Given the description of an element on the screen output the (x, y) to click on. 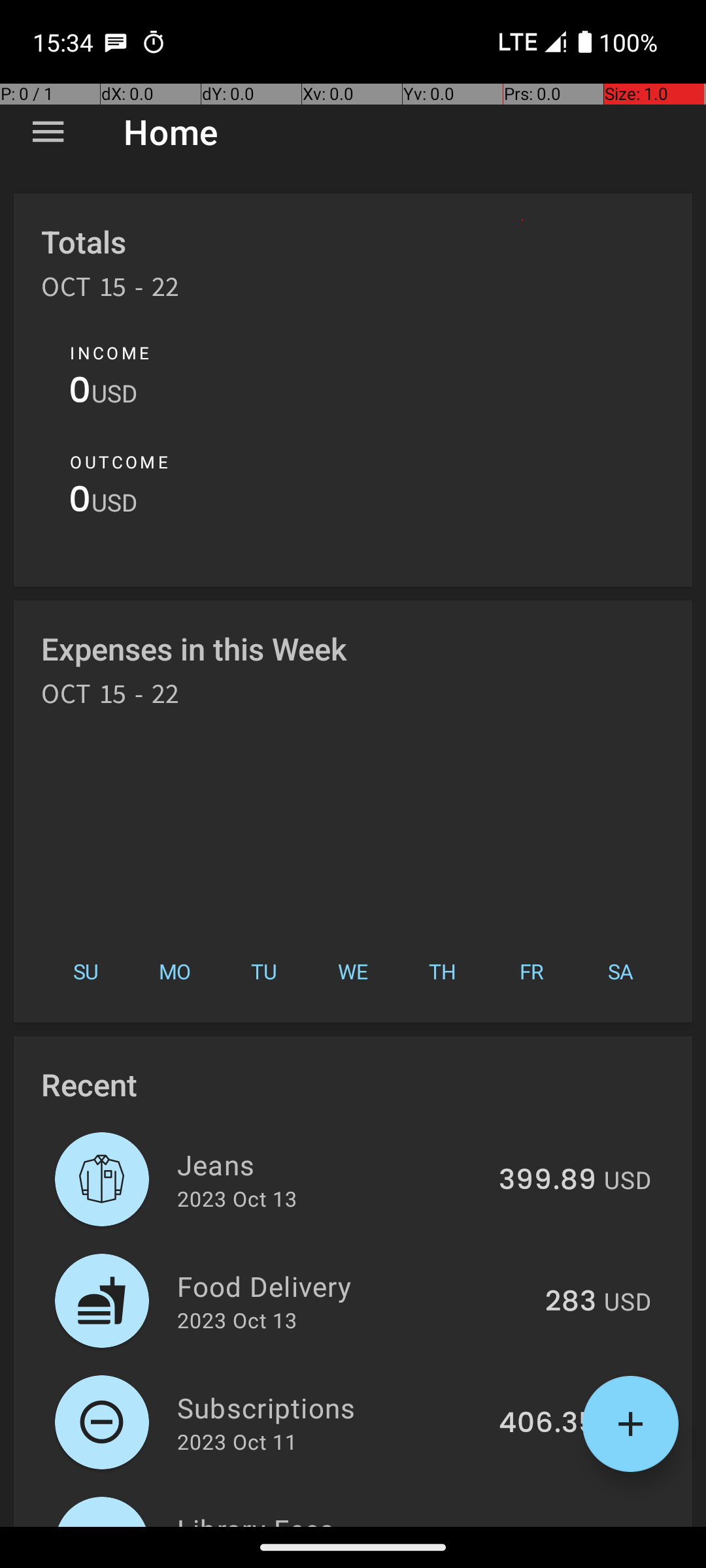
Jeans Element type: android.widget.TextView (330, 1164)
399.89 Element type: android.widget.TextView (547, 1180)
Food Delivery Element type: android.widget.TextView (353, 1285)
283 Element type: android.widget.TextView (570, 1301)
406.35 Element type: android.widget.TextView (547, 1423)
Library Fees Element type: android.widget.TextView (334, 1518)
269.41 Element type: android.widget.TextView (551, 1524)
SMS Messenger notification: +15785288010 Element type: android.widget.ImageView (115, 41)
